Given the description of an element on the screen output the (x, y) to click on. 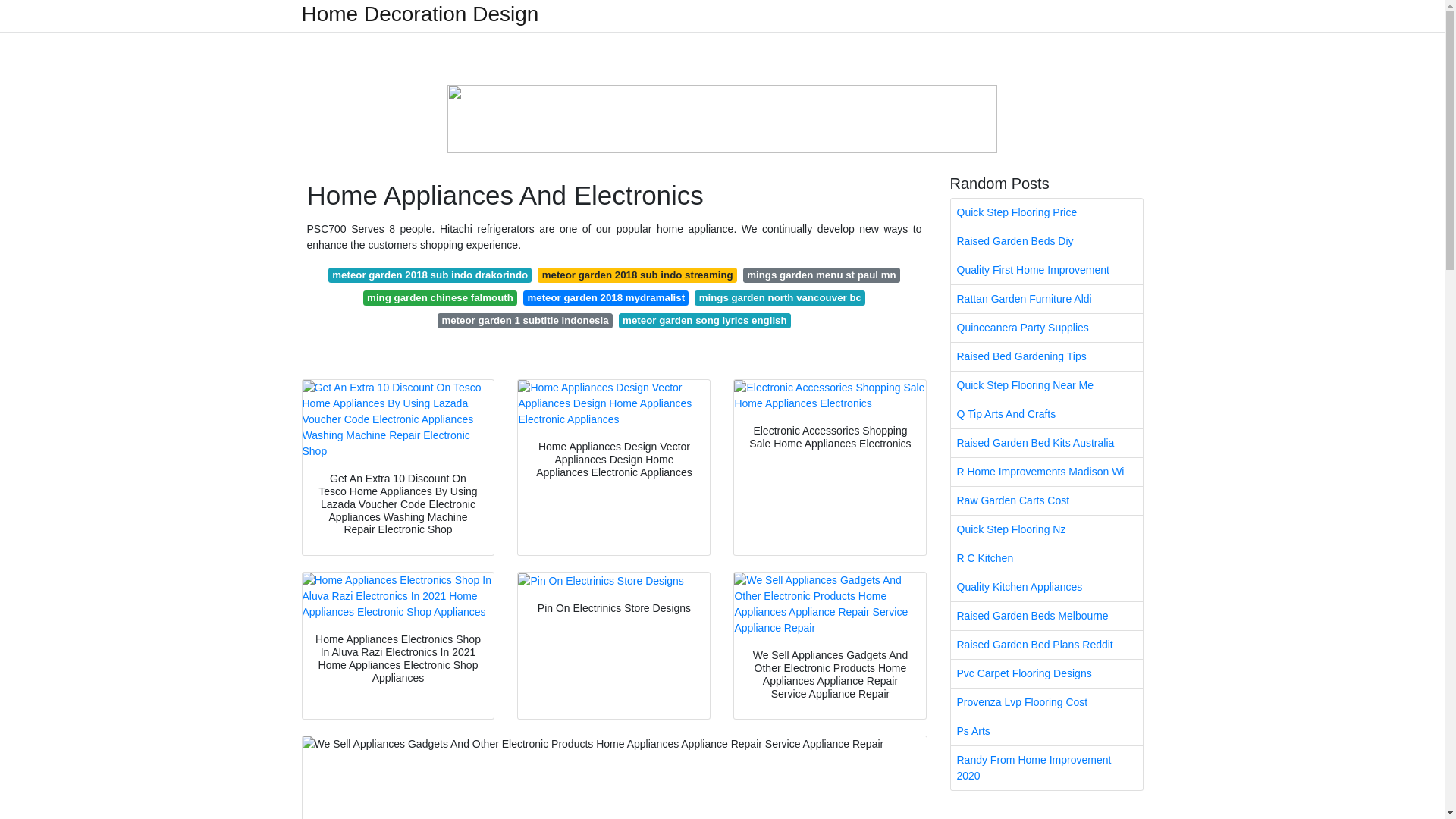
Home Decoration Design (419, 13)
meteor garden 2018 sub indo drakorindo (430, 274)
Home Decoration Design (419, 13)
Raised Bed Gardening Tips (1046, 357)
Raised Garden Beds Diy (1046, 241)
mings garden menu st paul mn (820, 274)
Raised Garden Bed Kits Australia (1046, 443)
meteor garden 2018 sub indo streaming (636, 274)
meteor garden song lyrics english (704, 320)
Rattan Garden Furniture Aldi (1046, 298)
Q Tip Arts And Crafts (1046, 414)
Quality First Home Improvement (1046, 270)
mings garden north vancouver bc (779, 297)
Quick Step Flooring Price (1046, 212)
ming garden chinese falmouth (439, 297)
